Given the description of an element on the screen output the (x, y) to click on. 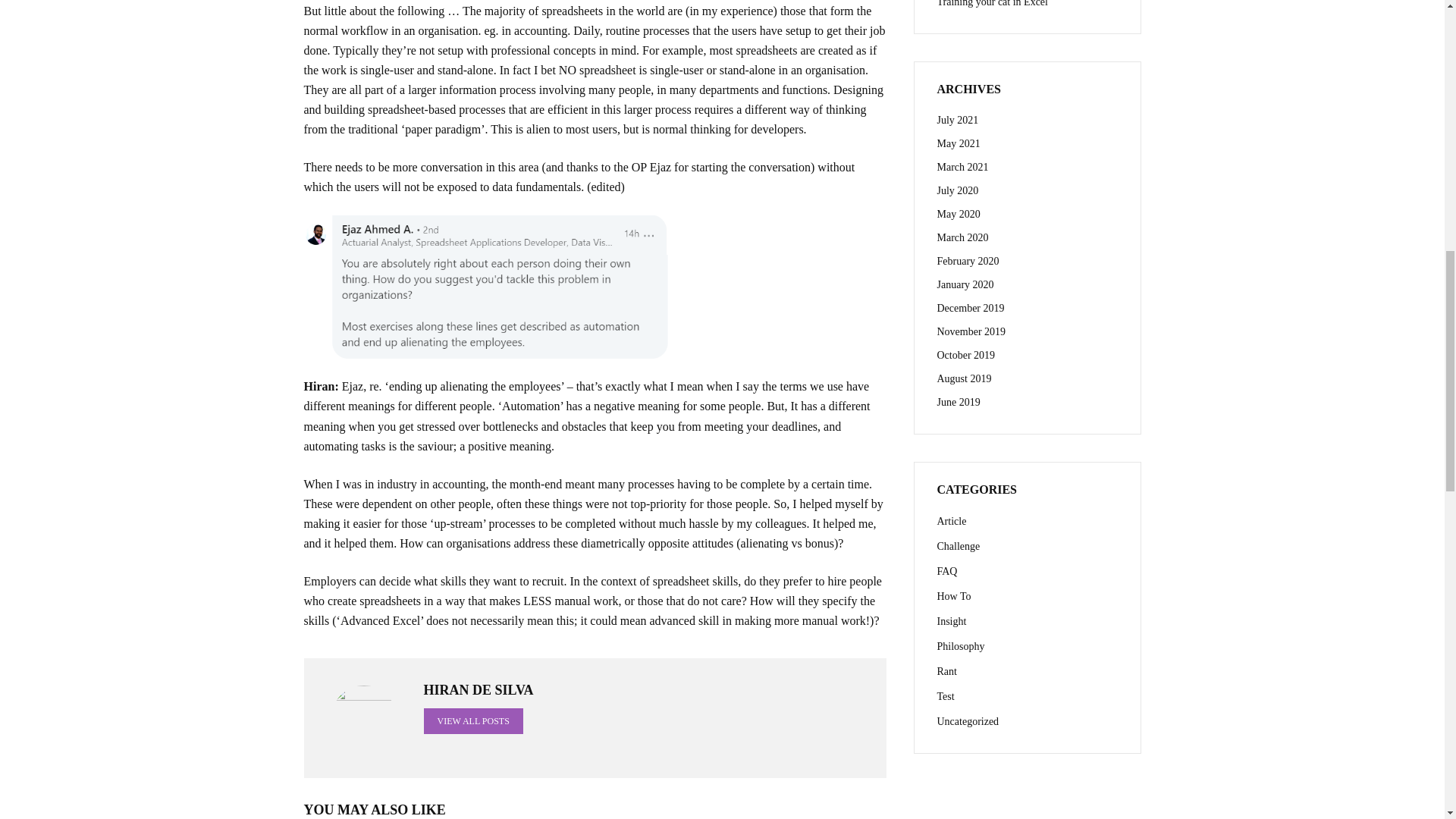
VIEW ALL POSTS (472, 720)
